Given the description of an element on the screen output the (x, y) to click on. 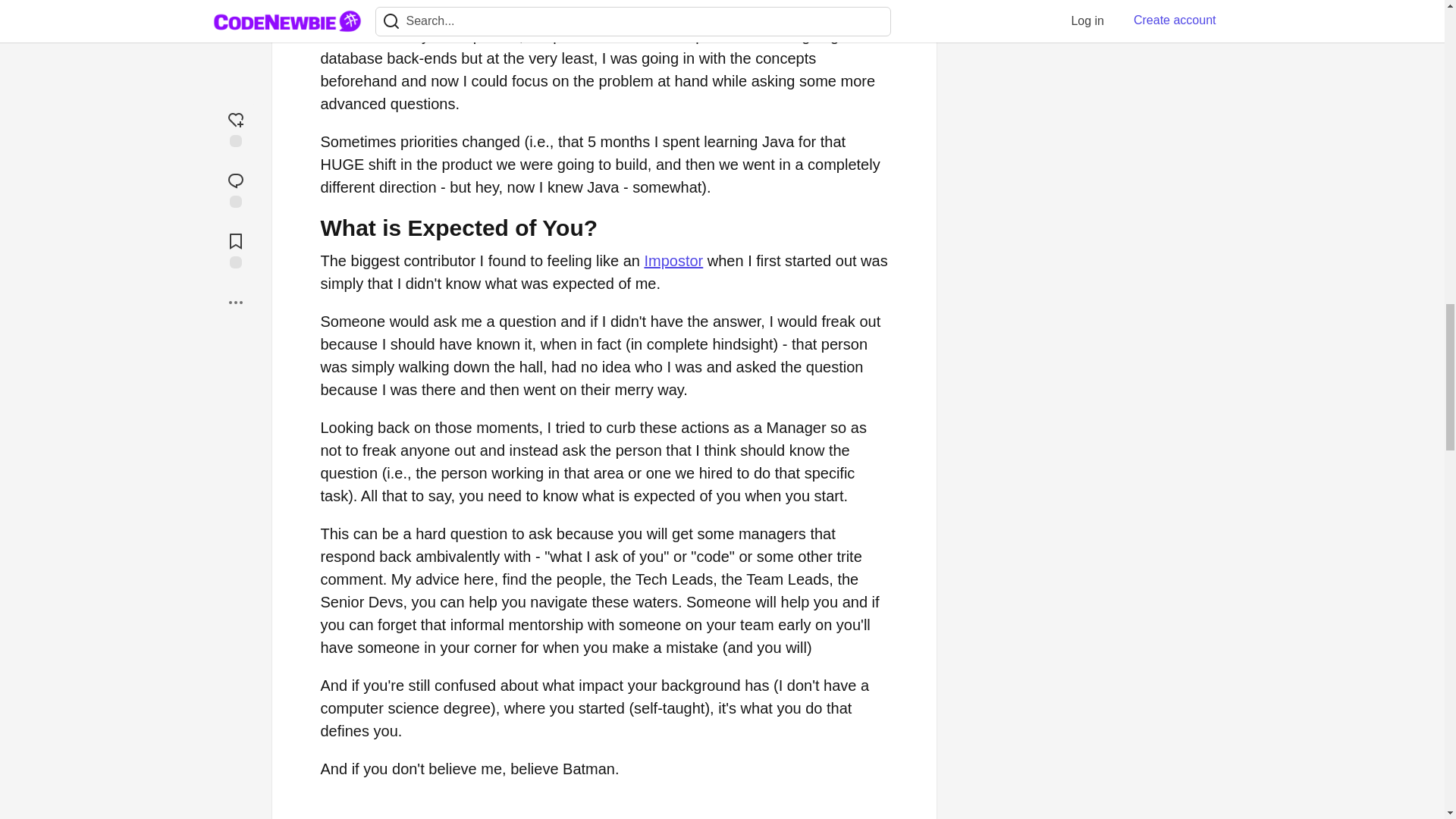
Impostor (673, 260)
